Given the description of an element on the screen output the (x, y) to click on. 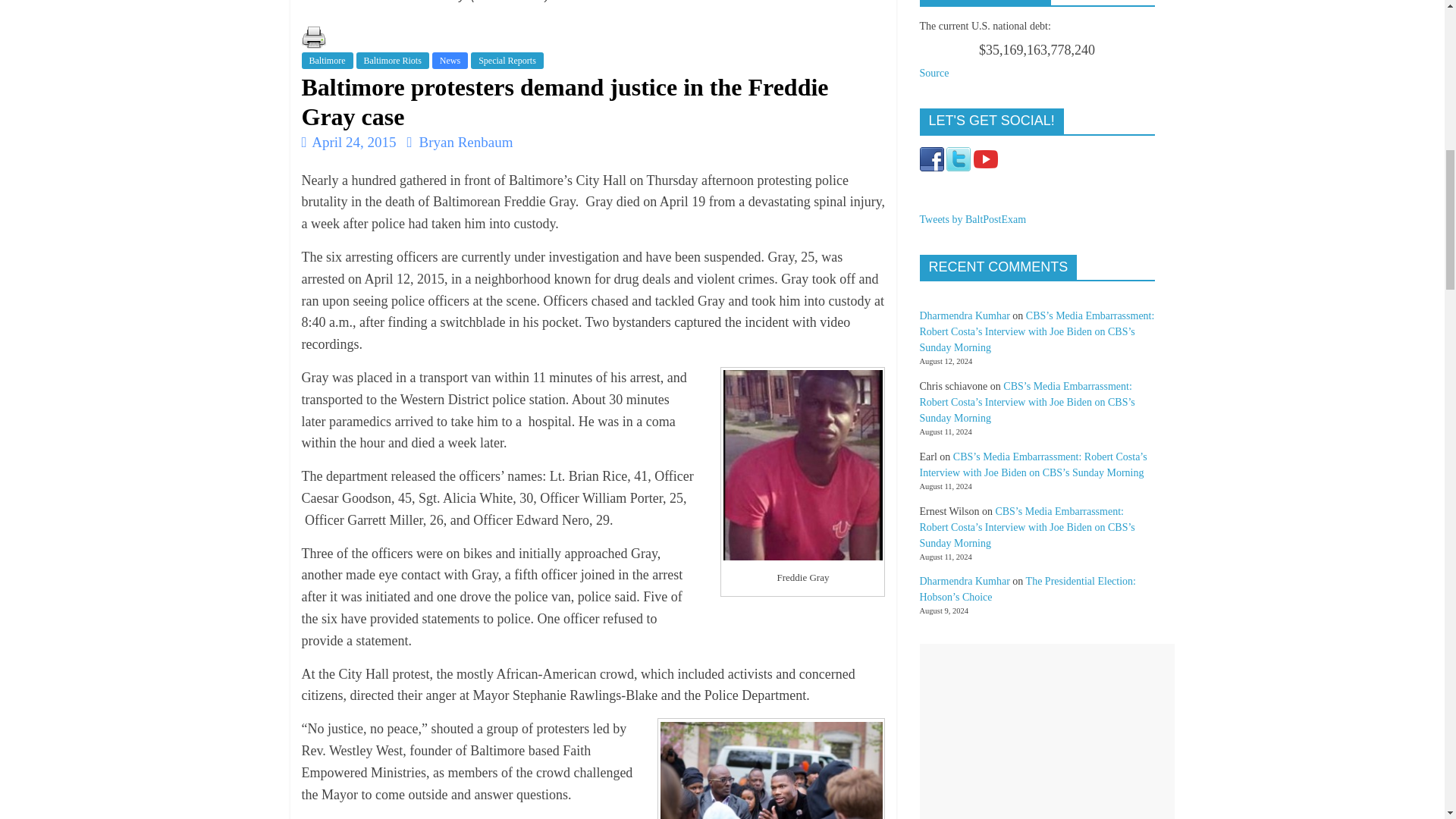
Advertisement (1045, 731)
Baltimore (327, 60)
Special Reports (506, 60)
8:10 AM (348, 141)
Source (933, 72)
Tweets by BaltPostExam (972, 219)
News (449, 60)
Bryan Renbaum (465, 141)
Baltimore Riots (392, 60)
Dharmendra Kumhar (963, 315)
